Given the description of an element on the screen output the (x, y) to click on. 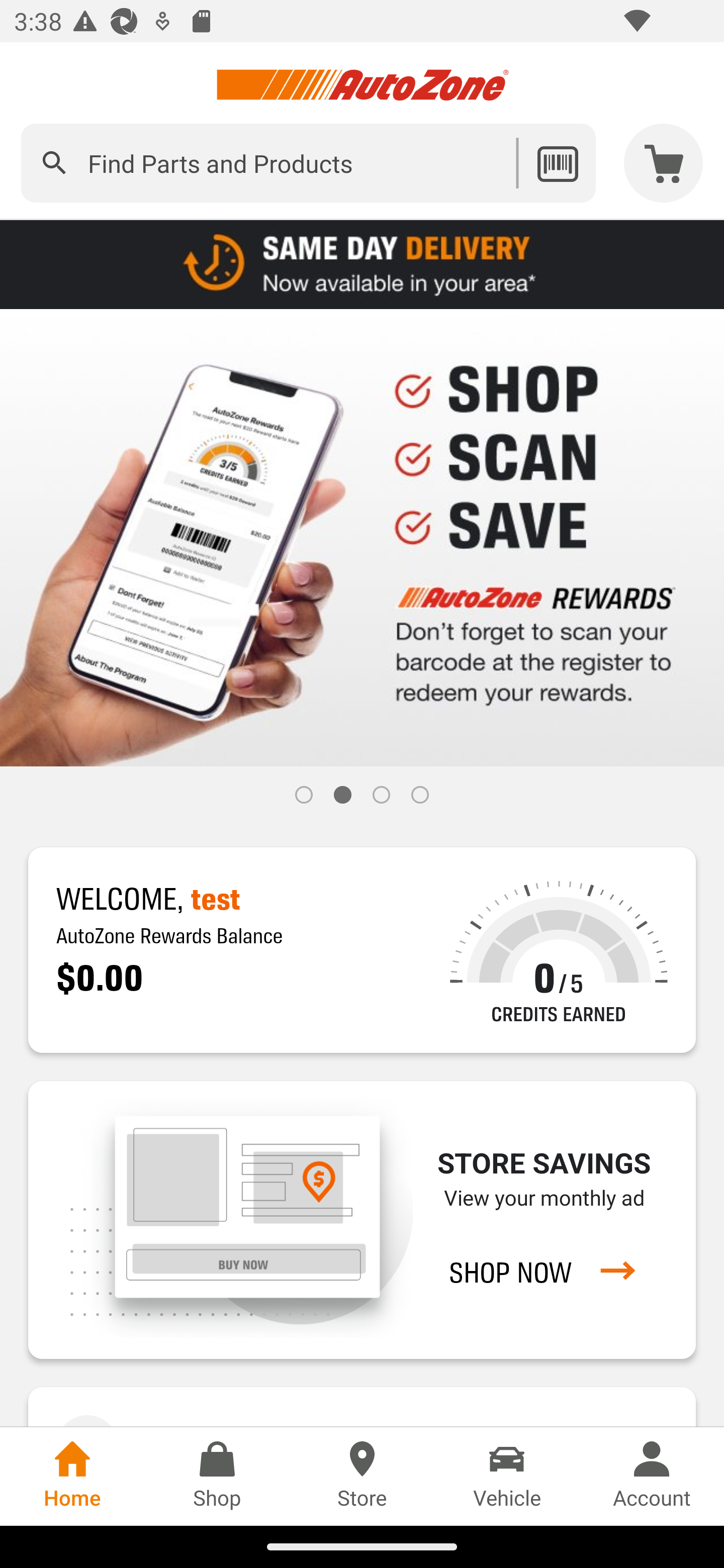
 scan-product-to-search  (557, 162)
 (54, 163)
Cart, no items  (663, 162)
Same Day Delivery - now available in your area* (362, 262)
Home (72, 1475)
Shop (216, 1475)
Store (361, 1475)
Vehicle (506, 1475)
Account (651, 1475)
